Given the description of an element on the screen output the (x, y) to click on. 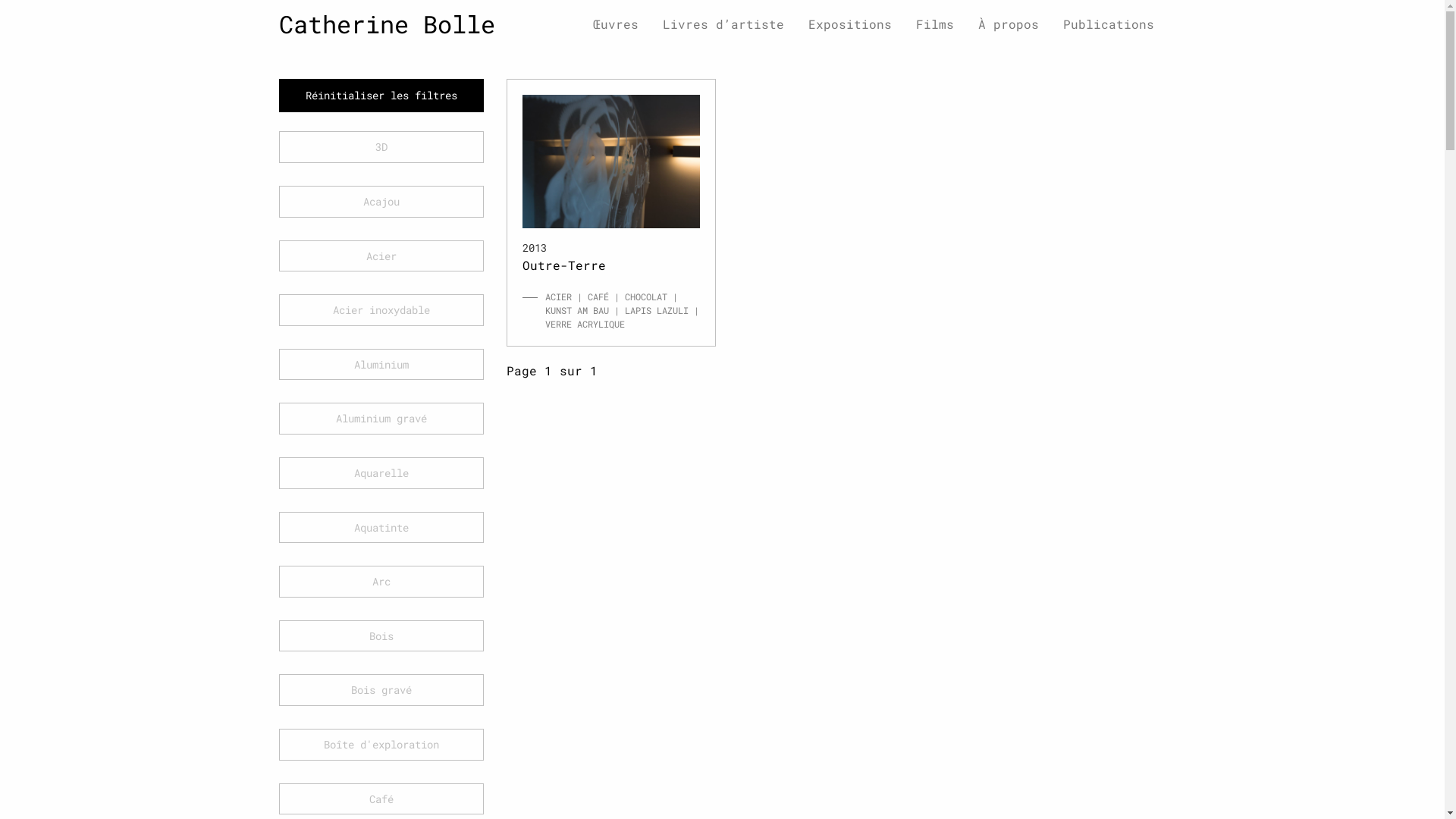
Publications Element type: text (1108, 23)
Expositions Element type: text (849, 23)
Catherine Bolle Element type: text (387, 24)
Films Element type: text (934, 23)
